Given the description of an element on the screen output the (x, y) to click on. 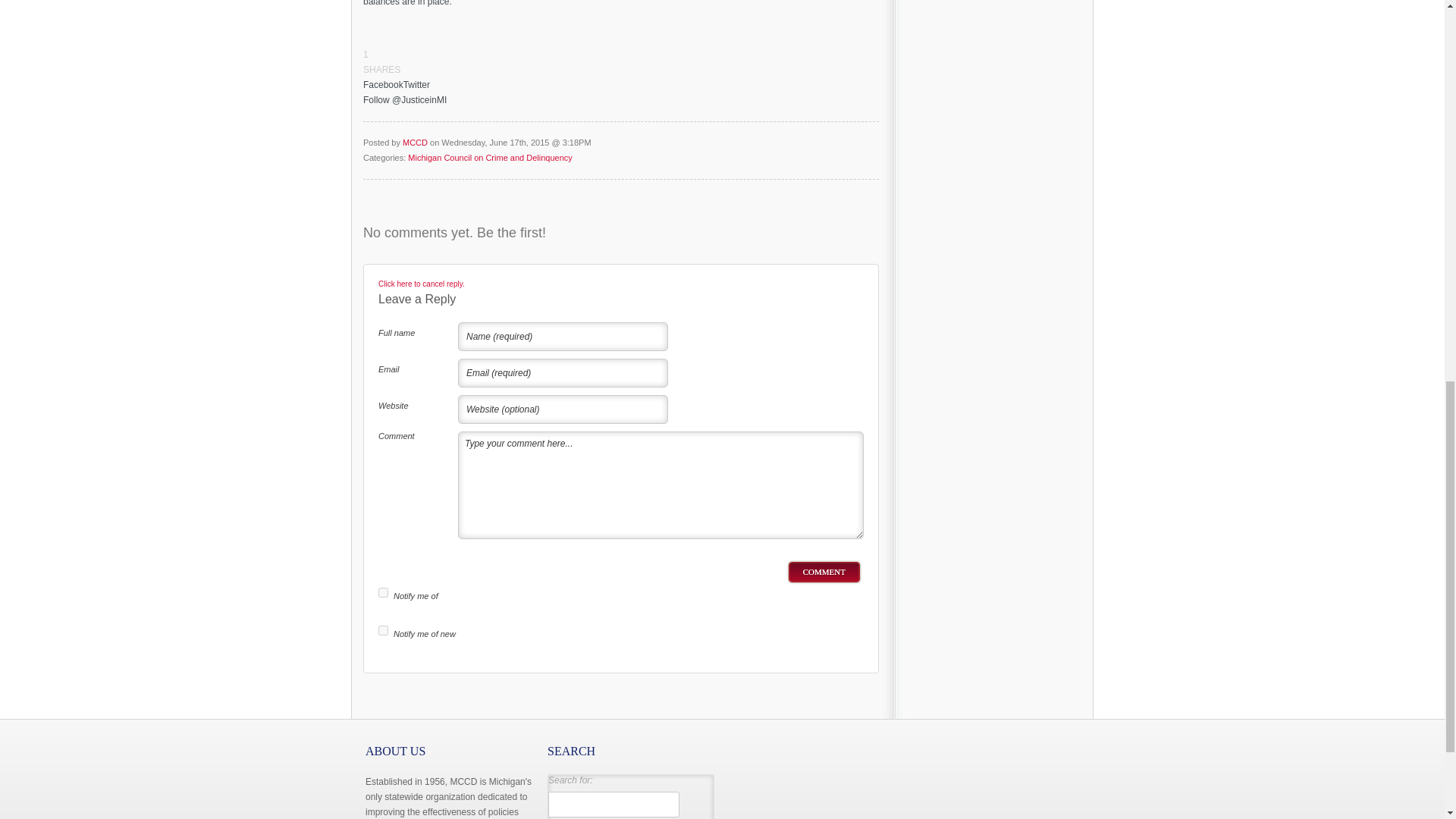
Comment (824, 571)
subscribe (383, 630)
subscribe (383, 592)
Posts by MCCD (415, 142)
